Given the description of an element on the screen output the (x, y) to click on. 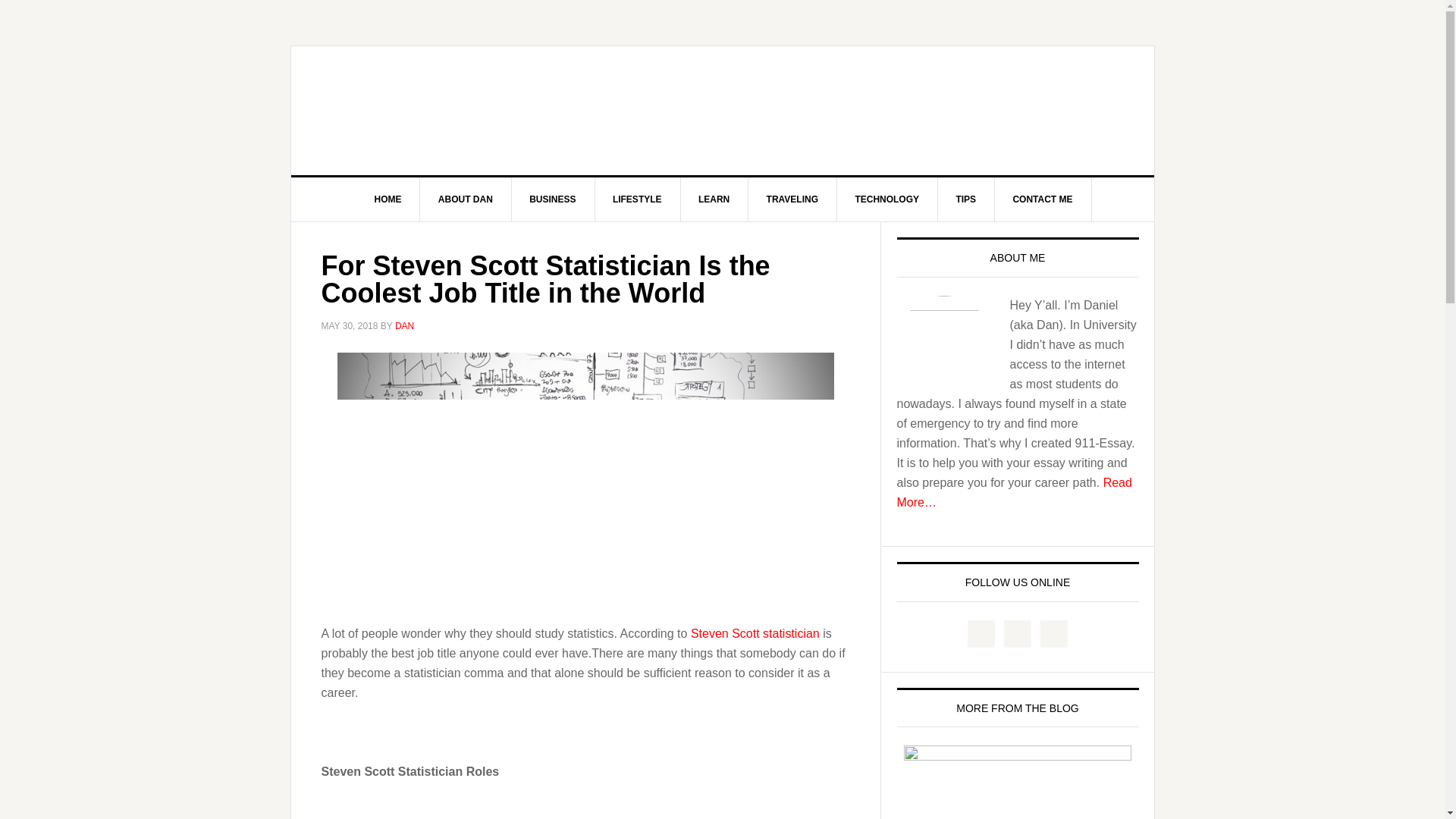
CONTACT ME (1042, 199)
HOME (387, 199)
TIPS (965, 199)
TECHNOLOGY (886, 199)
BUSINESS (552, 199)
LEARN (713, 199)
DAN (403, 326)
Steven Scott statistician (754, 632)
LIFESTYLE (637, 199)
911 ESSAY (722, 110)
